Given the description of an element on the screen output the (x, y) to click on. 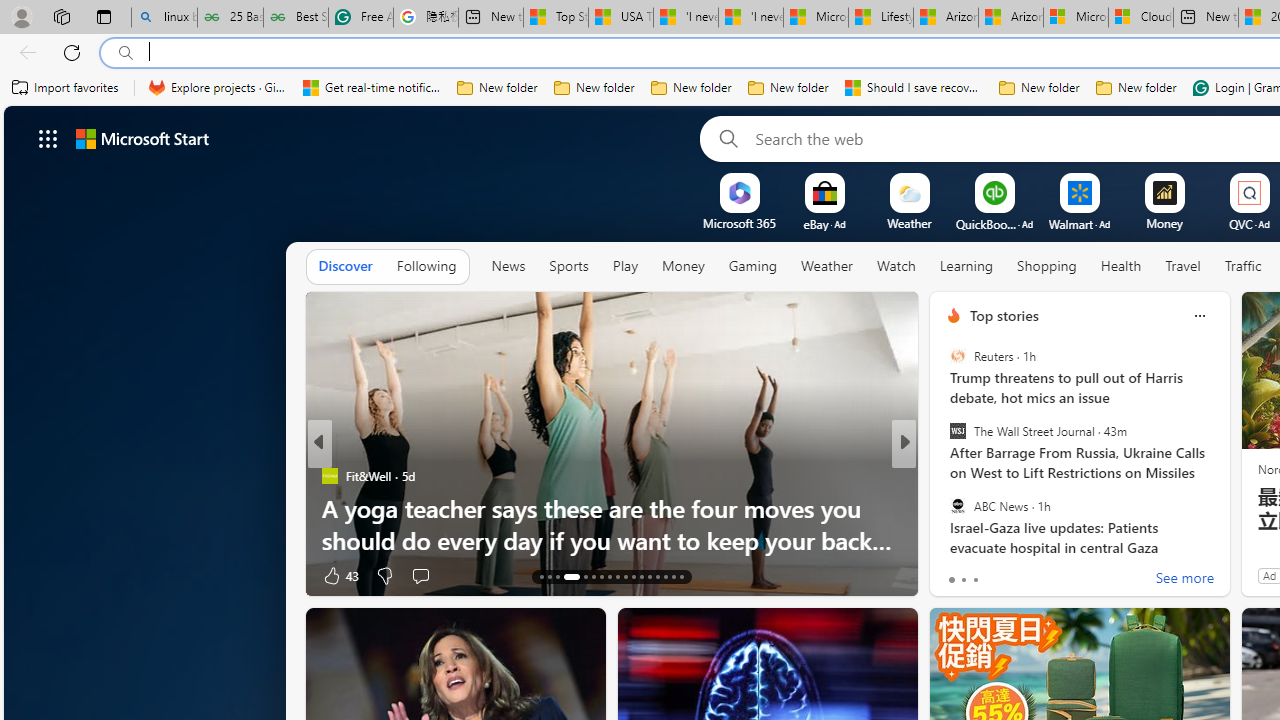
4k Like (955, 574)
69 Like (956, 574)
New folder (1136, 88)
AutomationID: tab-19 (600, 576)
View comments 40 Comment (1044, 574)
AutomationID: tab-28 (673, 576)
